Given the description of an element on the screen output the (x, y) to click on. 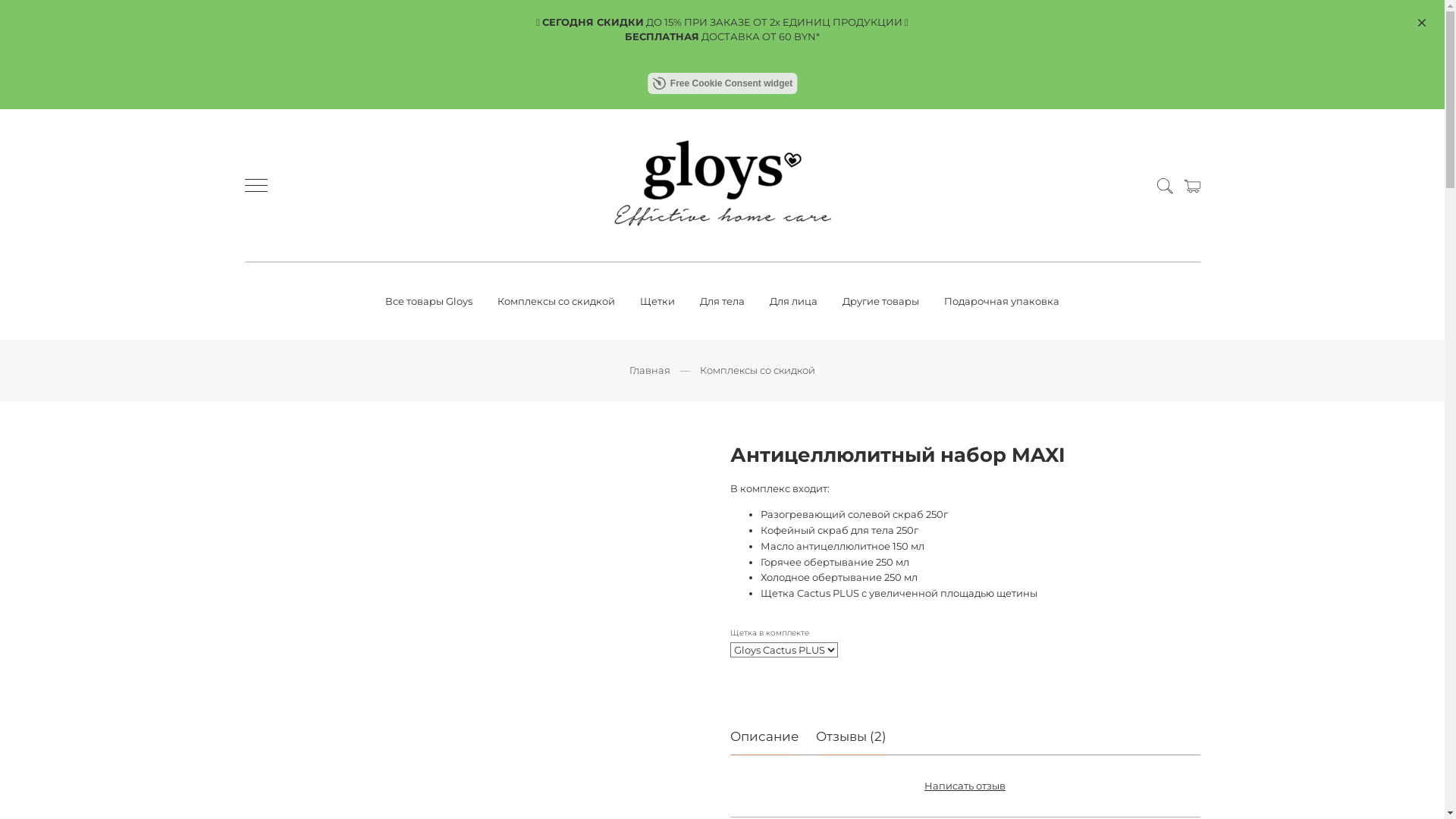
Free Cookie Consent widget Element type: text (722, 83)
